Given the description of an element on the screen output the (x, y) to click on. 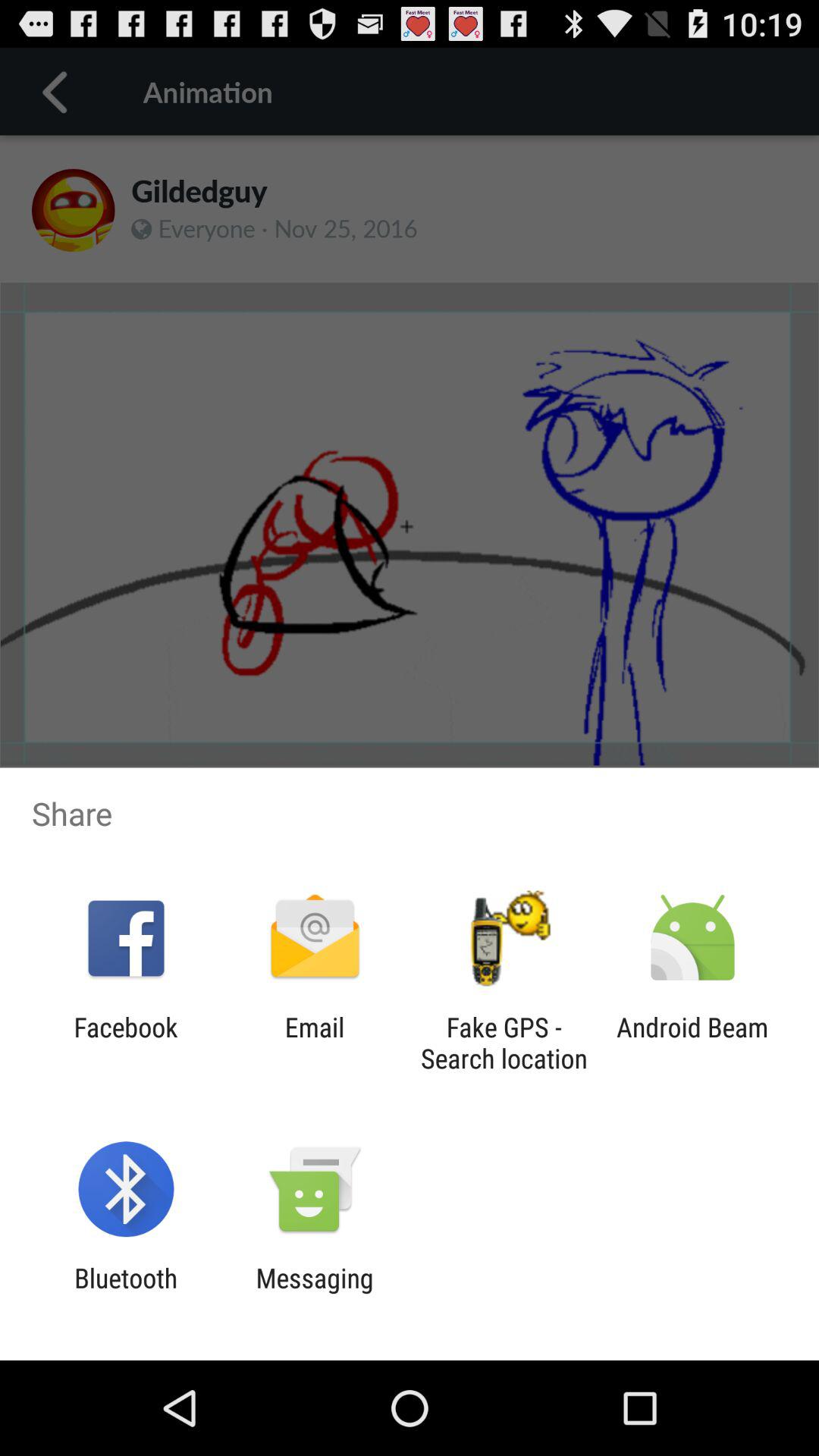
open icon next to the fake gps search item (314, 1042)
